Given the description of an element on the screen output the (x, y) to click on. 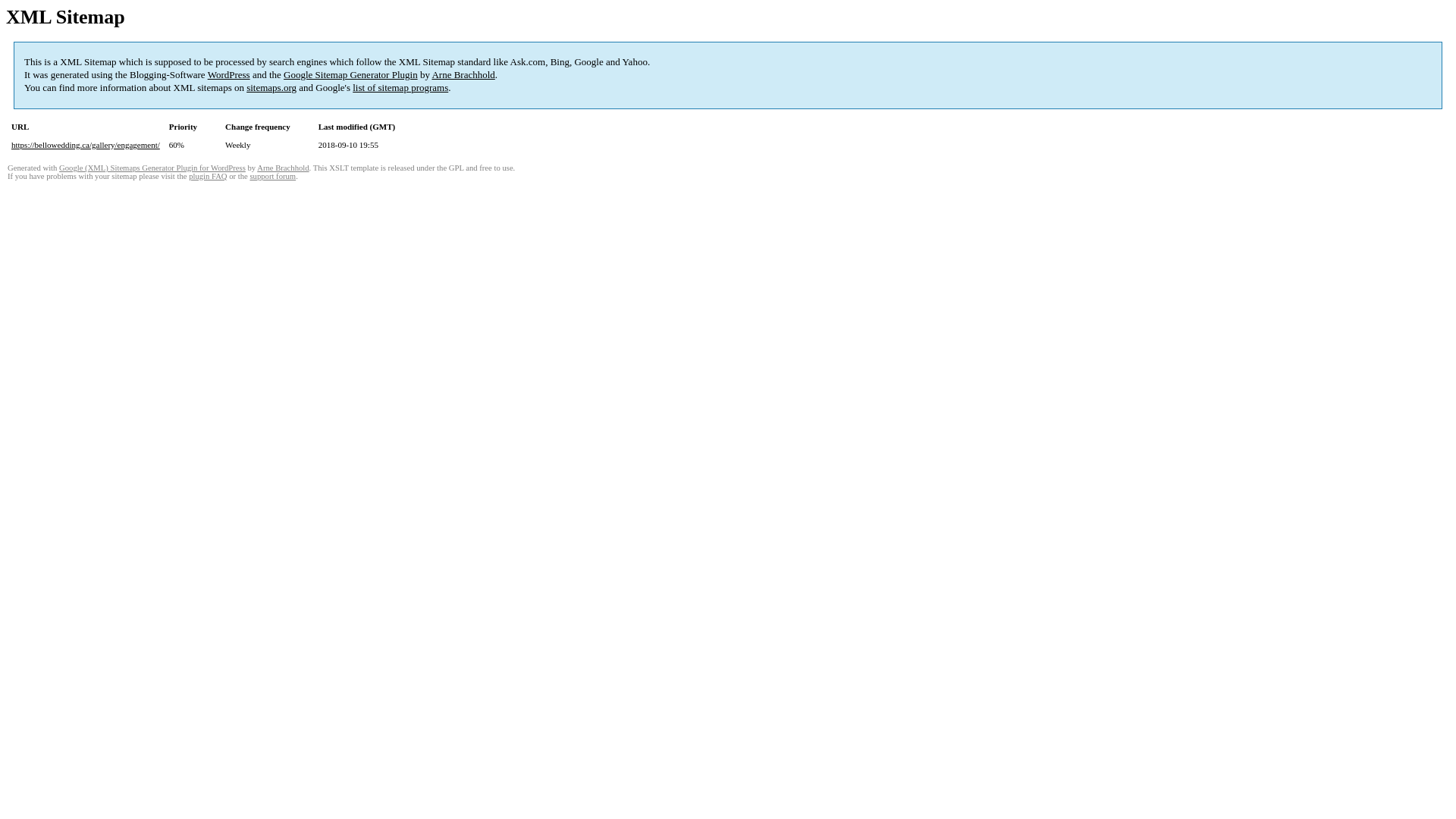
https://bellowedding.ca/gallery/engagement/ Element type: text (85, 144)
Google Sitemap Generator Plugin Element type: text (350, 74)
WordPress Element type: text (228, 74)
plugin FAQ Element type: text (207, 176)
Google (XML) Sitemaps Generator Plugin for WordPress Element type: text (152, 167)
support forum Element type: text (272, 176)
Arne Brachhold Element type: text (282, 167)
sitemaps.org Element type: text (271, 87)
list of sitemap programs Element type: text (400, 87)
Arne Brachhold Element type: text (462, 74)
